Given the description of an element on the screen output the (x, y) to click on. 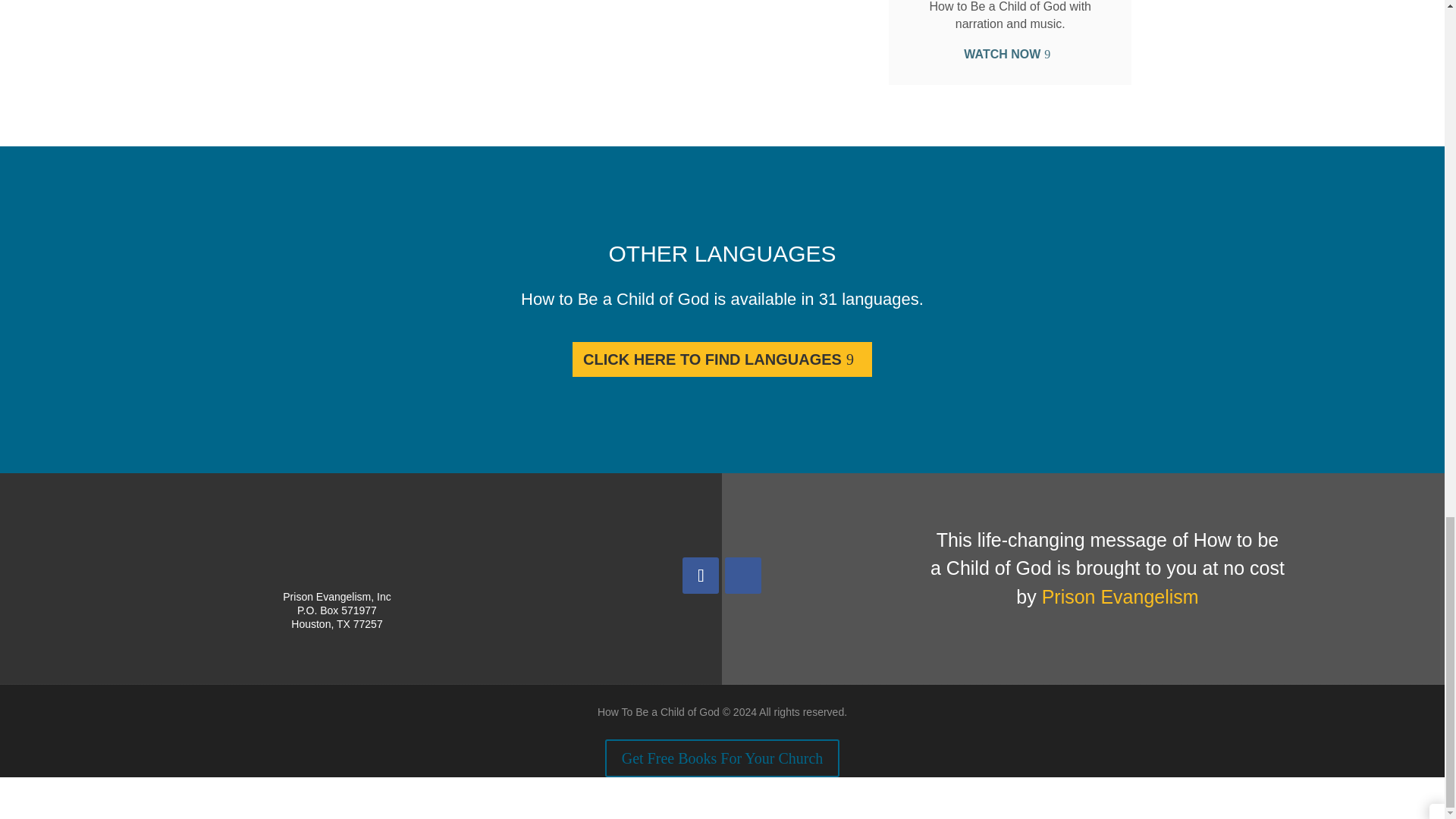
Follow on Instagram (743, 575)
Follow on Facebook (700, 575)
WATCH NOW (1009, 53)
child-of-god-logo-wh (335, 554)
CLICK HERE TO FIND LANGUAGES (722, 359)
Prison Evangelism (1120, 596)
